Given the description of an element on the screen output the (x, y) to click on. 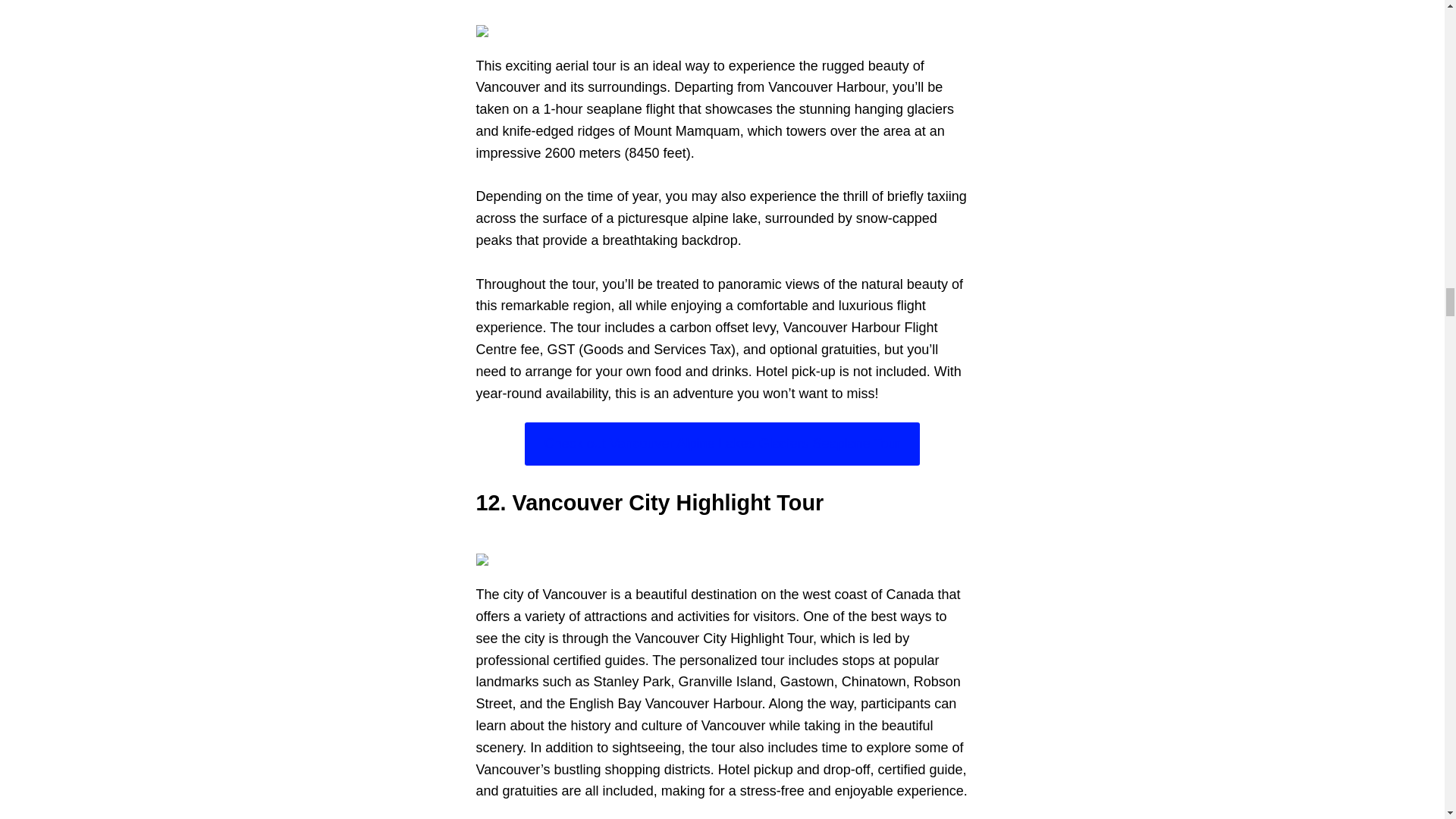
Check out Vancouver Alpine Lakes Glaciers Seaplane Tour (722, 444)
